Given the description of an element on the screen output the (x, y) to click on. 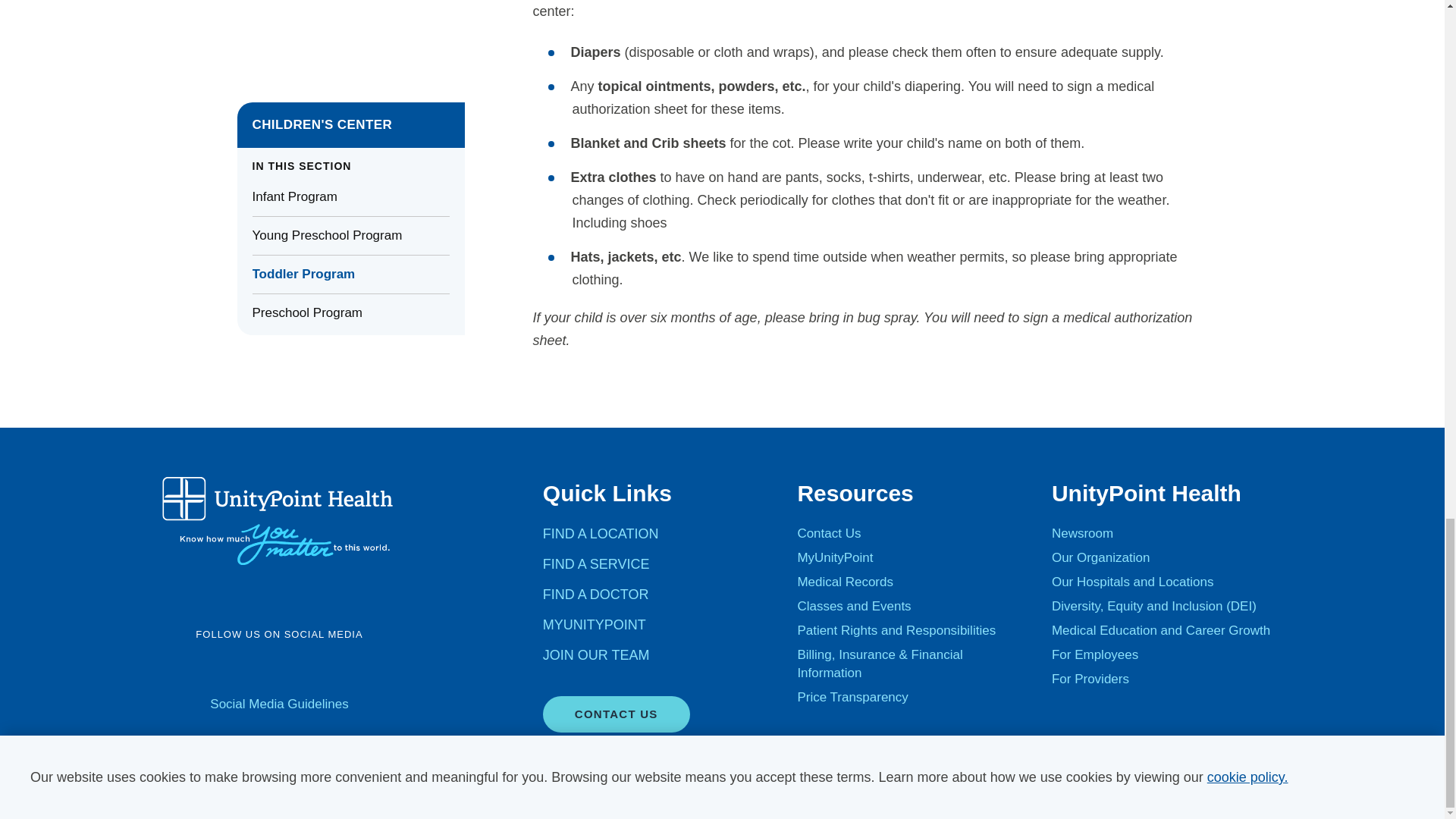
Twitter (220, 669)
YouTube (259, 669)
Instagram (299, 669)
Facebook (179, 669)
Pinterest (377, 669)
Linkedin (338, 669)
